Given the description of an element on the screen output the (x, y) to click on. 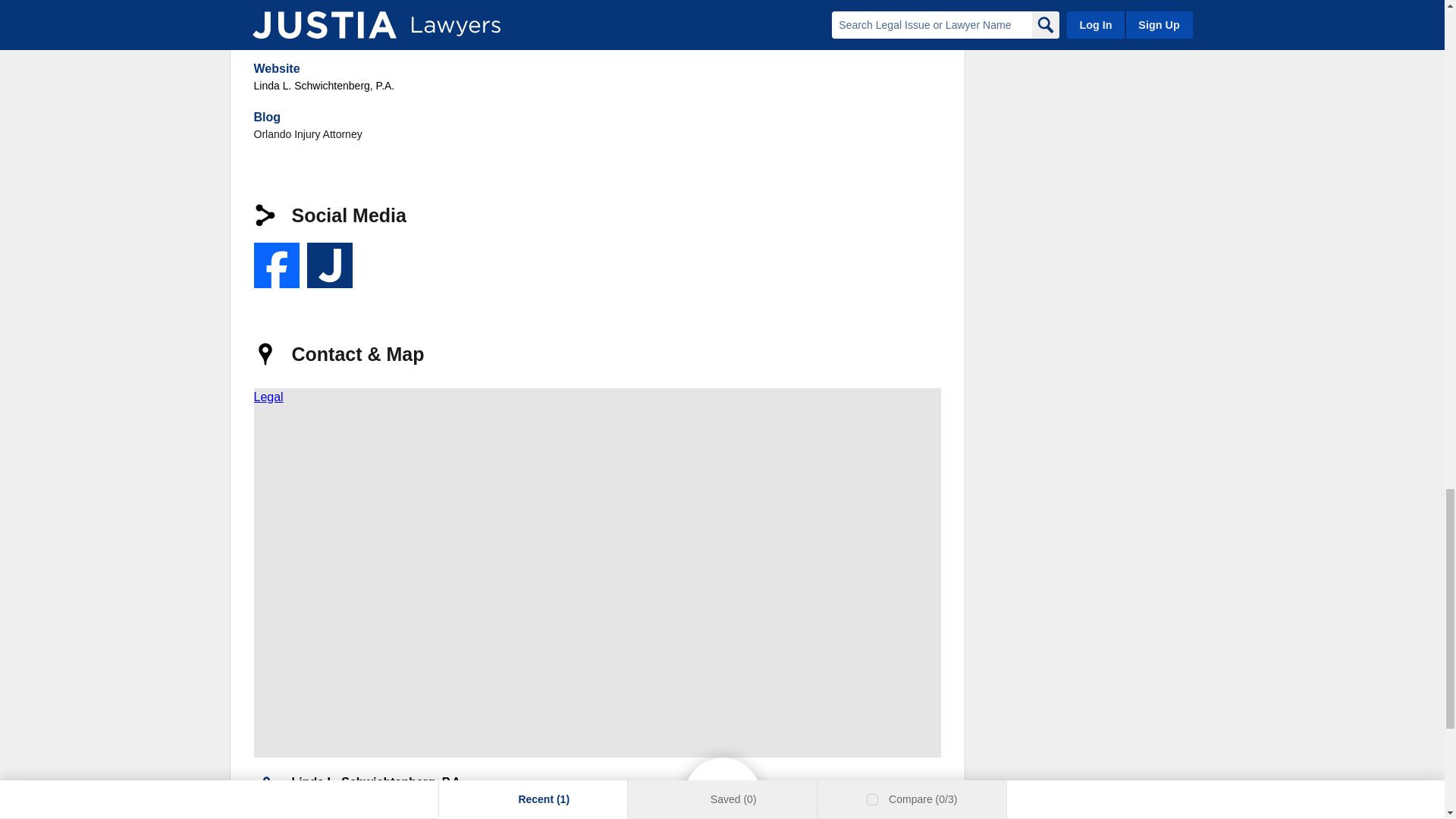
Facebook (275, 265)
Justia Profile (328, 265)
Website (276, 68)
Blog (267, 116)
 Justia Profile (328, 265)
Linda Schwichtenberg on Facebook (275, 265)
